Given the description of an element on the screen output the (x, y) to click on. 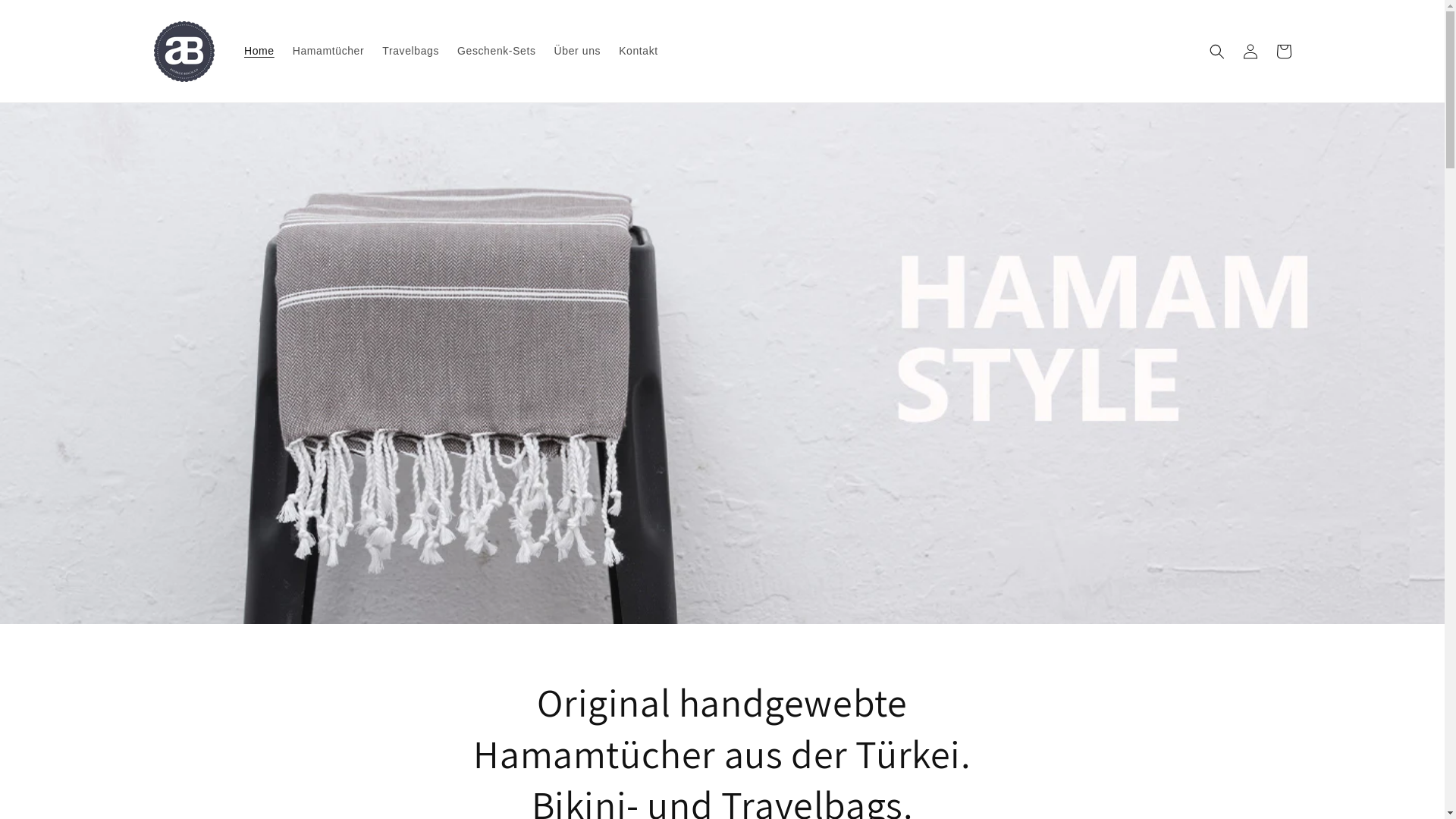
Warenkorb Element type: text (1282, 51)
Travelbags Element type: text (410, 50)
Geschenk-Sets Element type: text (496, 50)
Kontakt Element type: text (638, 50)
Home Element type: text (259, 50)
Einloggen Element type: text (1249, 51)
